Given the description of an element on the screen output the (x, y) to click on. 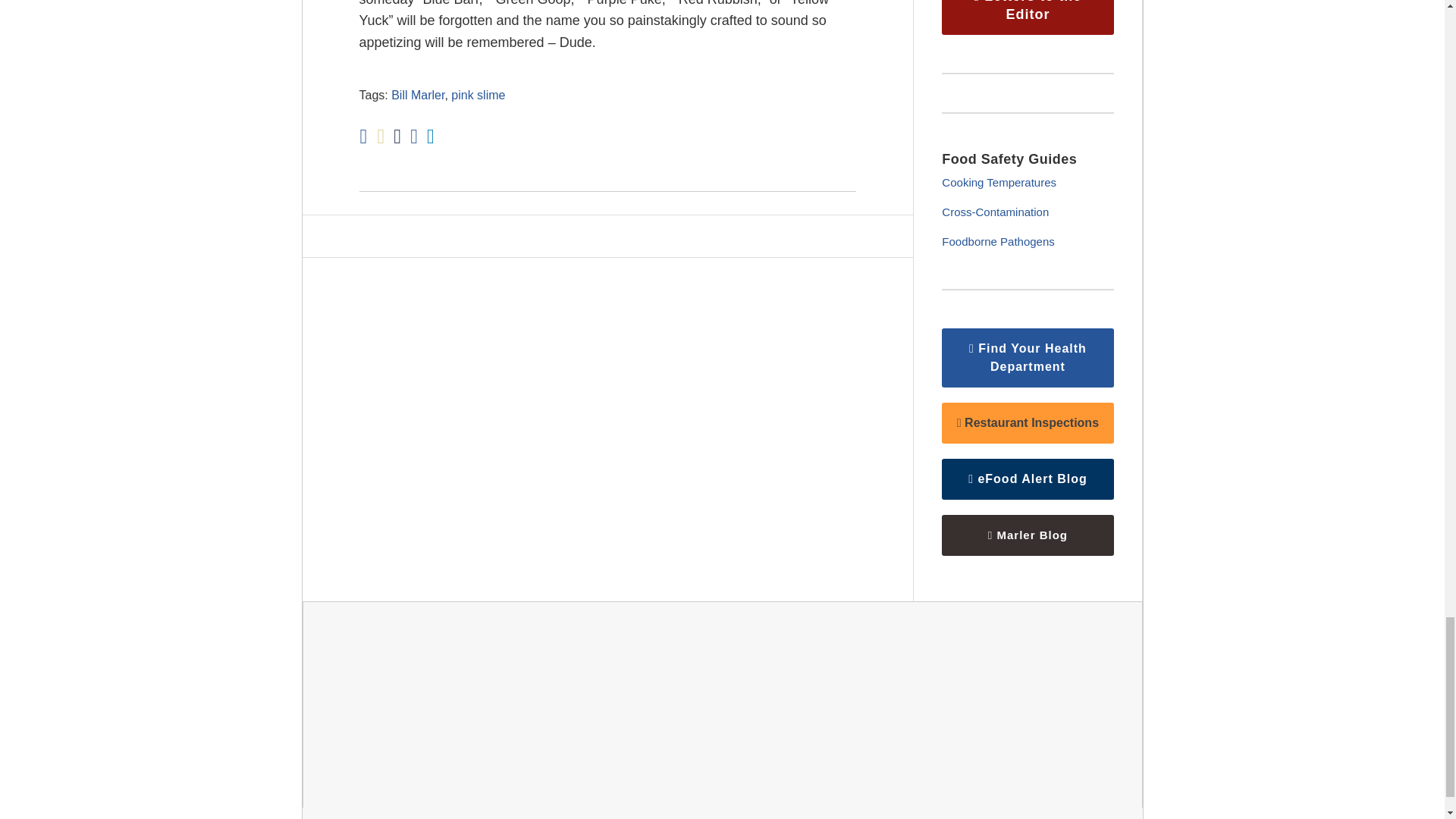
pink slime (478, 94)
Bill Marler (417, 94)
